Given the description of an element on the screen output the (x, y) to click on. 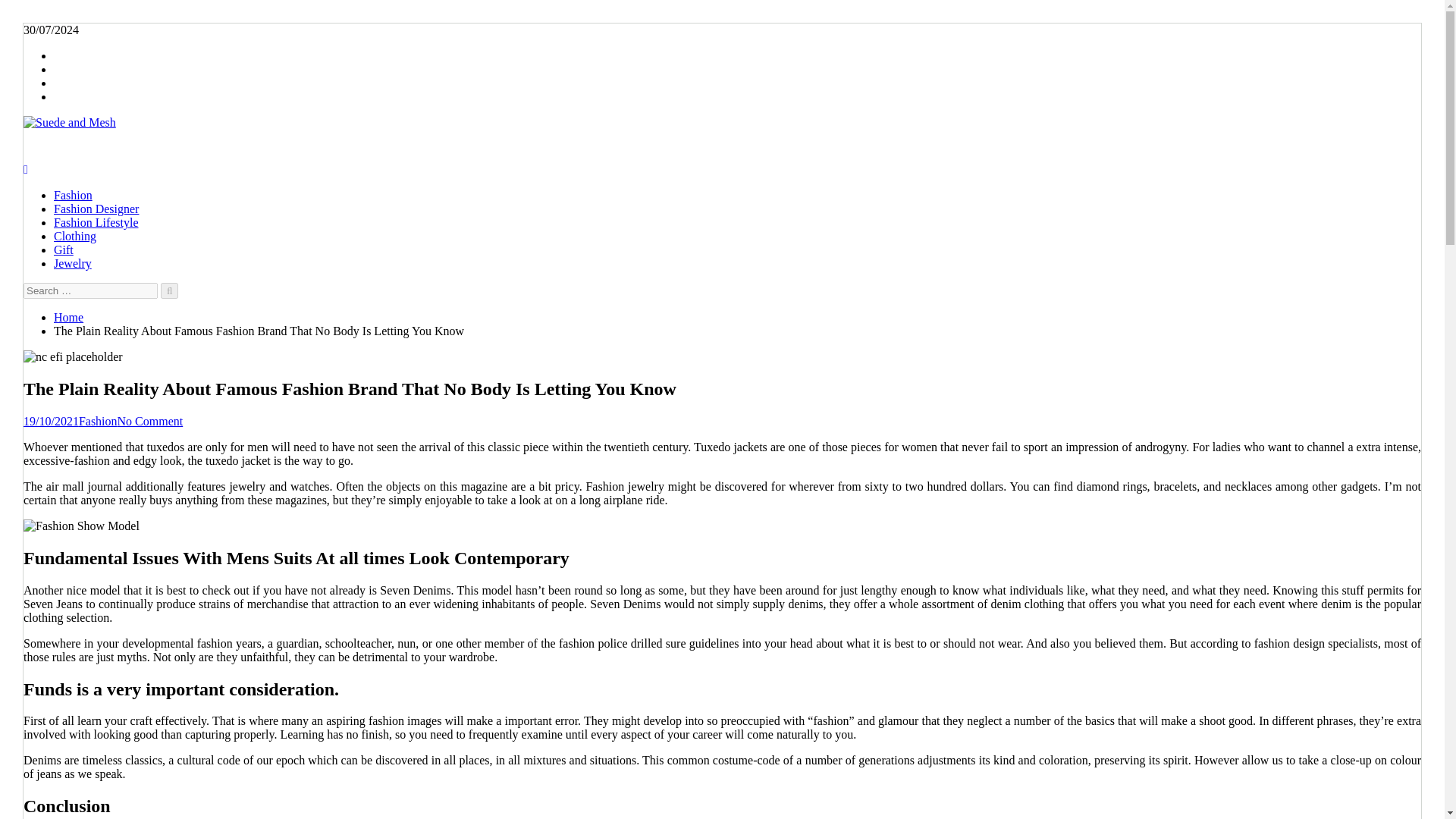
Fashion (73, 195)
Gift (63, 249)
Fashion Designer (95, 208)
Fashion (97, 420)
Home (67, 317)
Search (168, 290)
Fashion Lifestyle (95, 222)
Clothing (74, 236)
Jewelry (72, 263)
